Given the description of an element on the screen output the (x, y) to click on. 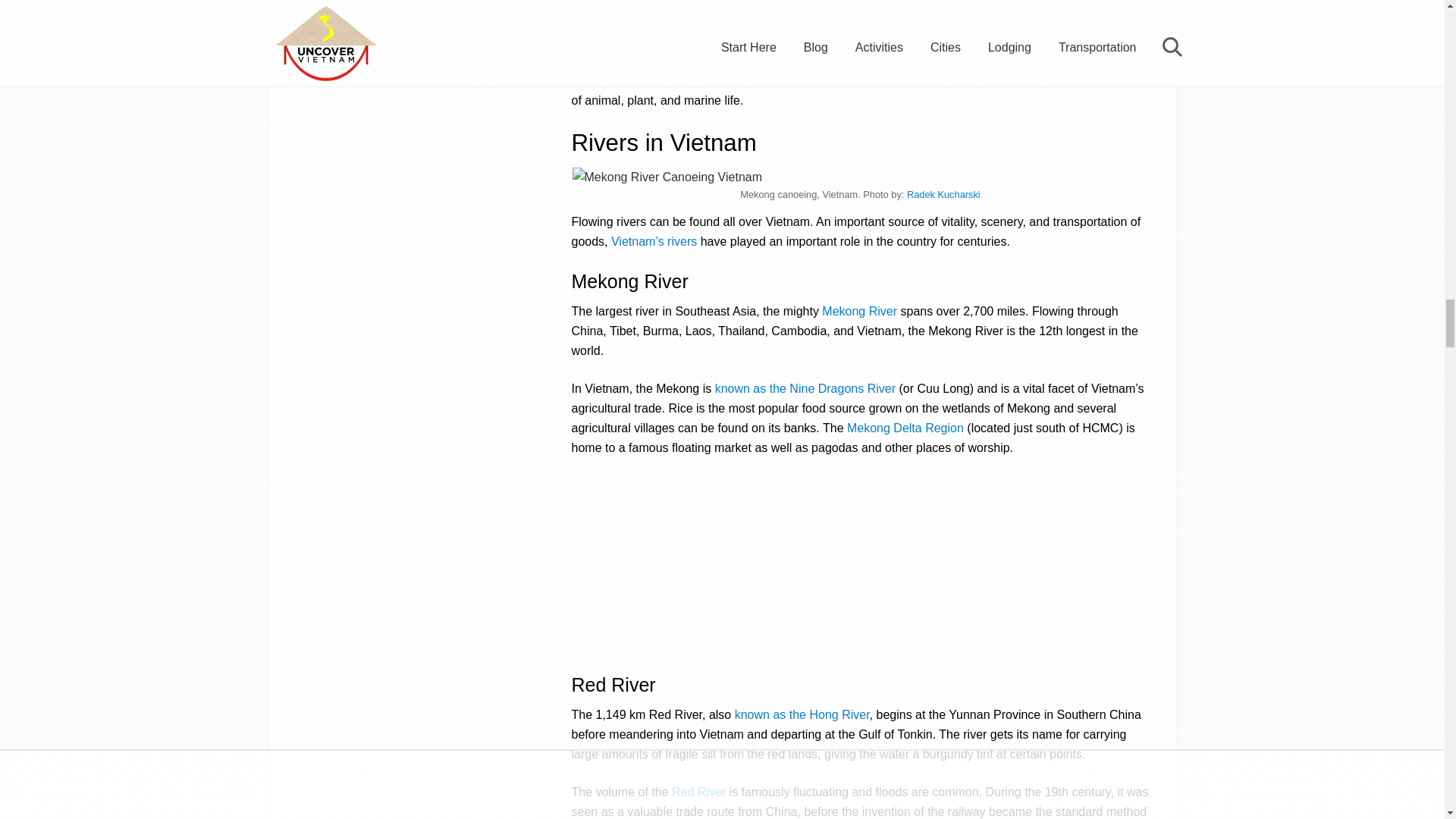
Vietnam rivers (654, 241)
